Given the description of an element on the screen output the (x, y) to click on. 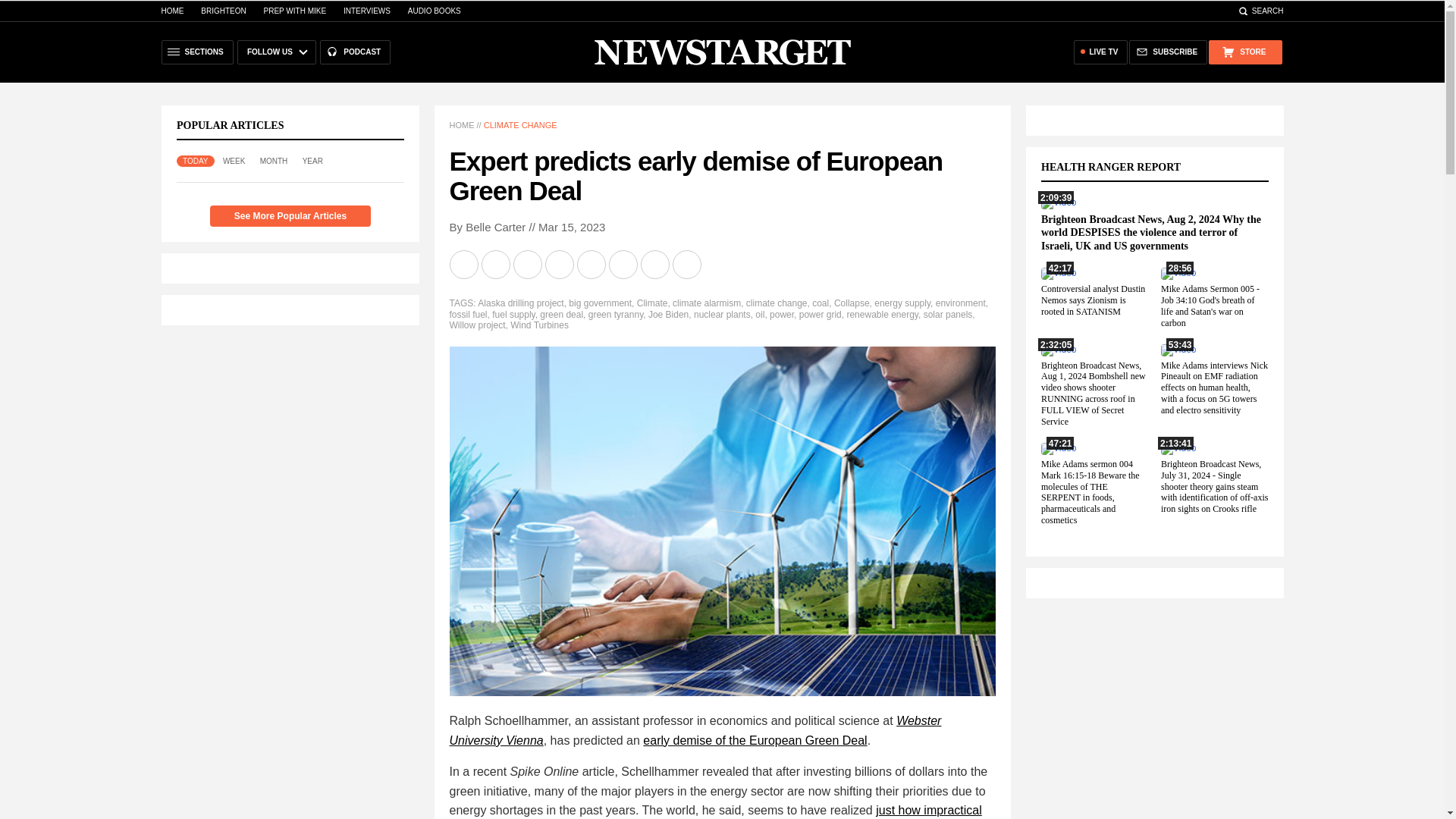
Share on Gettr (655, 264)
47:21 (1058, 448)
More Share Options (687, 264)
Share on Twitter (528, 264)
2:09:39 (1058, 202)
HOME (461, 124)
HEALTH RANGER REPORT (1119, 166)
